Given the description of an element on the screen output the (x, y) to click on. 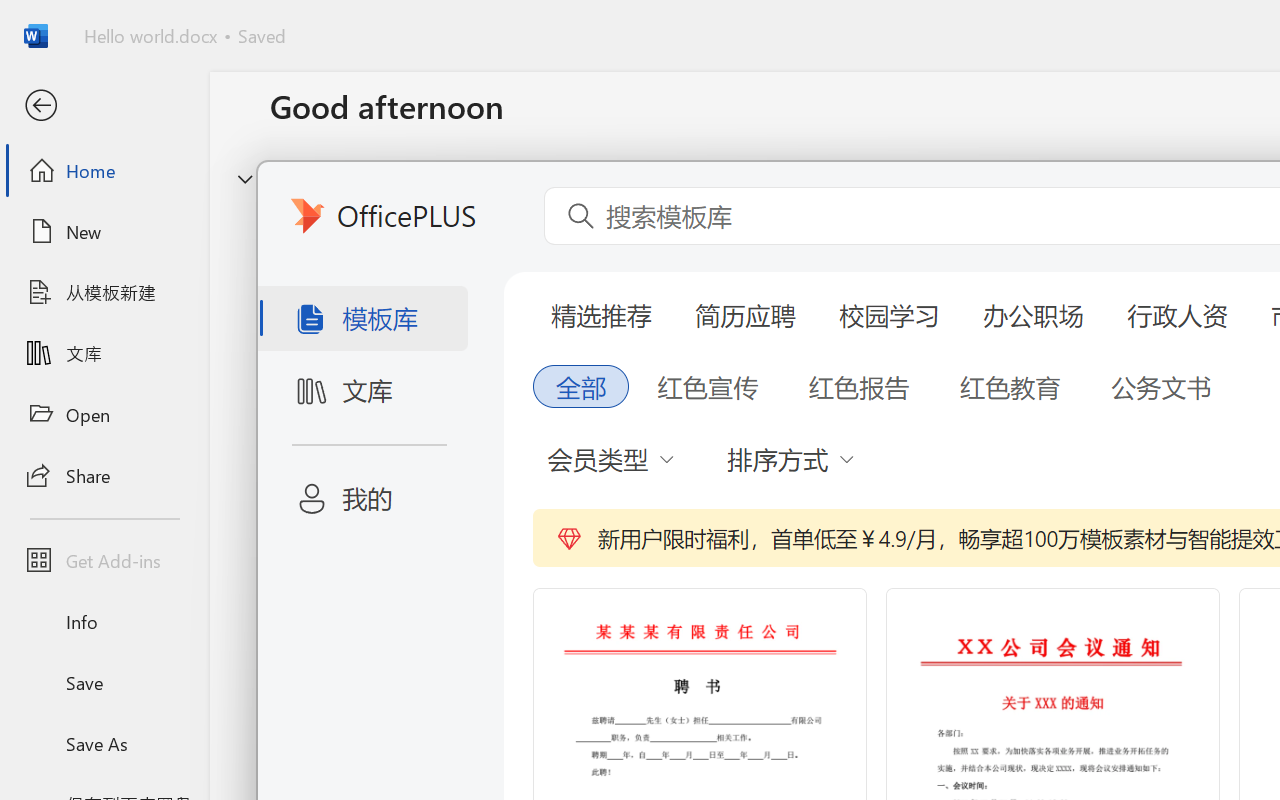
Visual Studio 2022 (57, 508)
Visual Studio Code (57, 656)
link-start (172, 52)
SJTUvpn (172, 496)
